Given the description of an element on the screen output the (x, y) to click on. 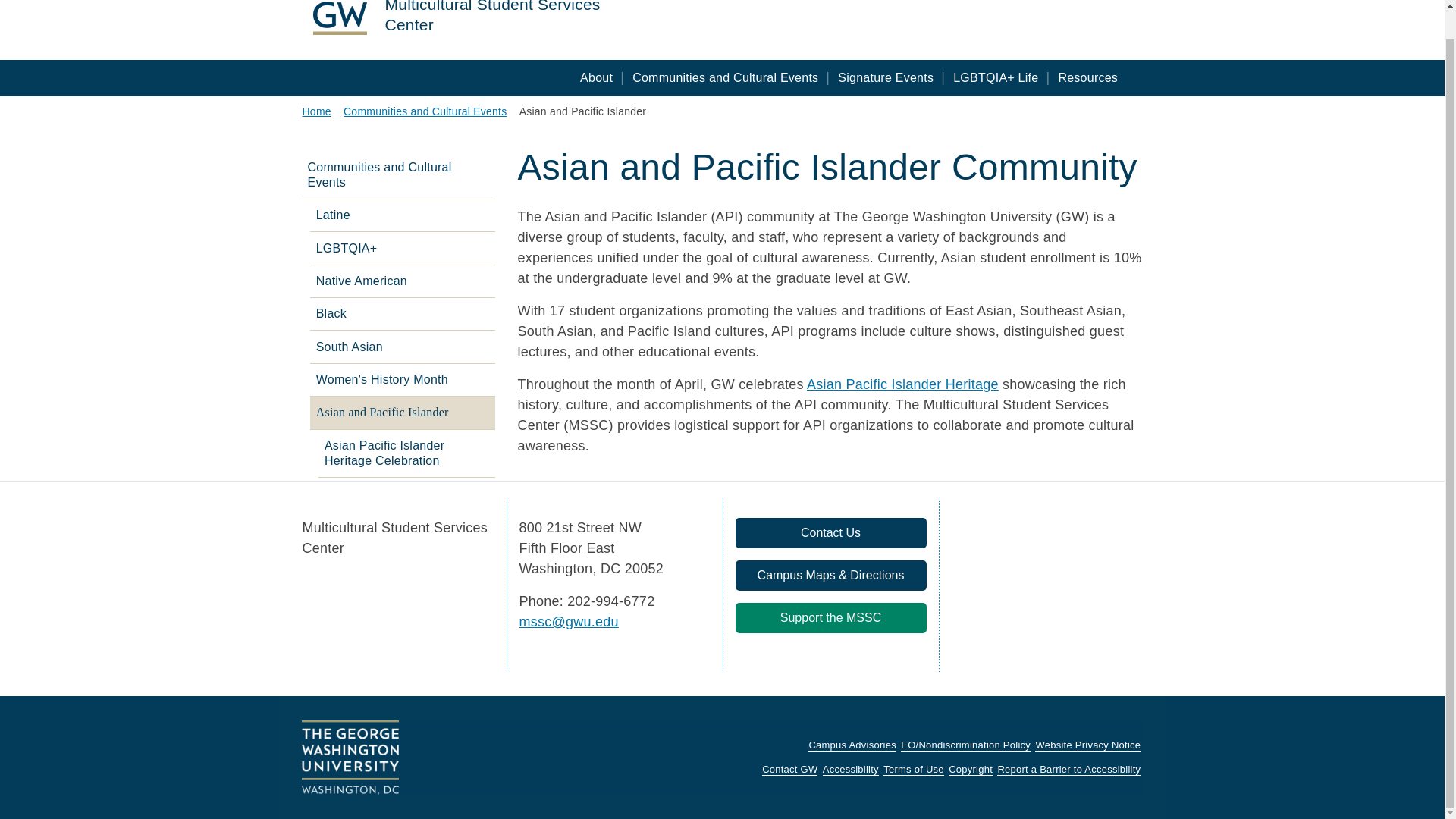
Multicultural Student Services Center (512, 18)
Communities and Cultural Events (725, 77)
Click and drag to move (740, 641)
About (595, 77)
Asian Pacific Islander Heritage Celebration (902, 384)
Signature Events (885, 77)
Resources (1087, 77)
